Given the description of an element on the screen output the (x, y) to click on. 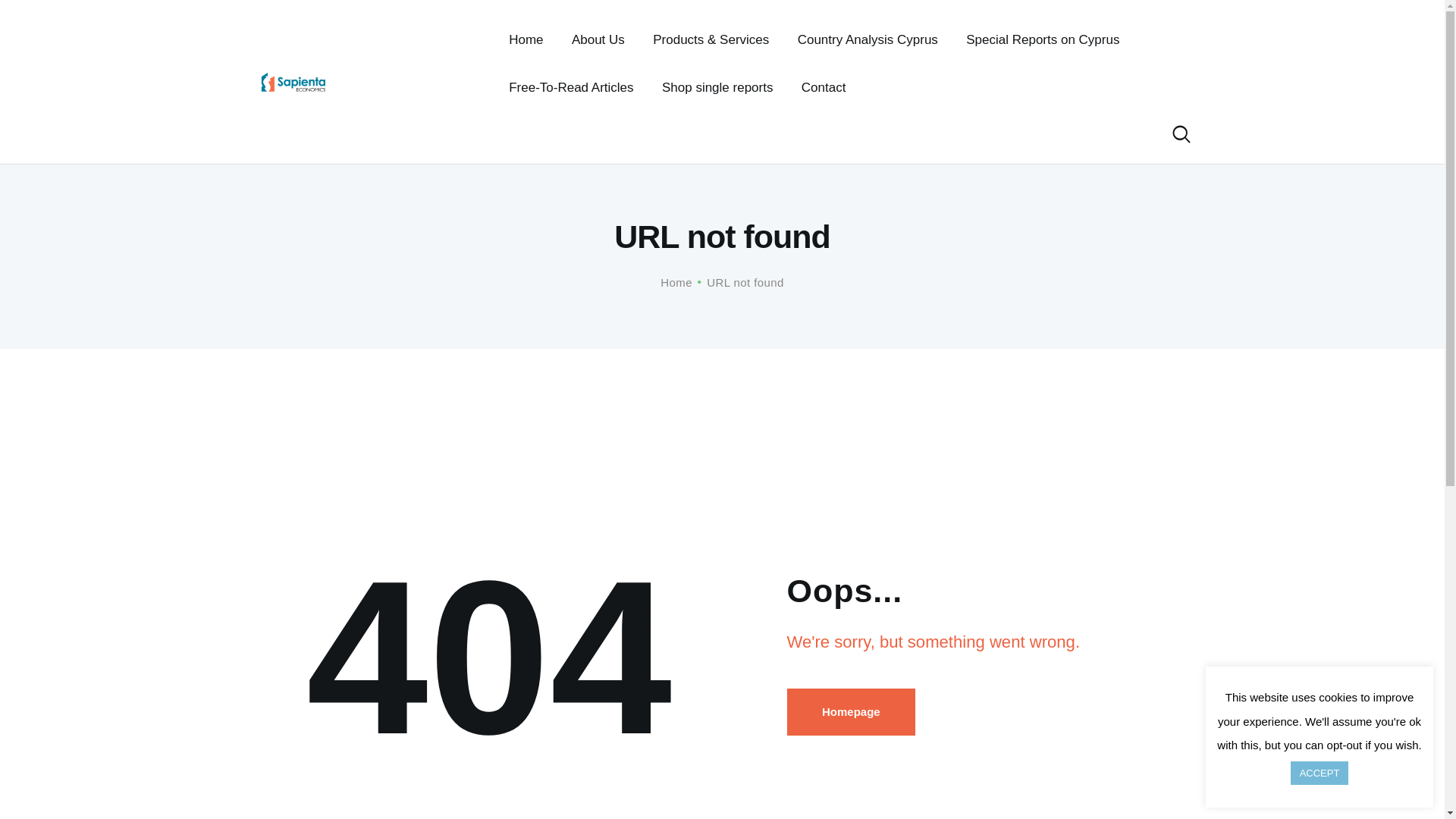
Home (526, 39)
Free-To-Read Articles (571, 87)
About Us (598, 39)
Home (677, 282)
Contact (823, 87)
Shop single reports (717, 87)
Special Reports on Cyprus (1043, 39)
Country Analysis Cyprus (867, 39)
Homepage (851, 711)
ACCEPT (1319, 772)
